Given the description of an element on the screen output the (x, y) to click on. 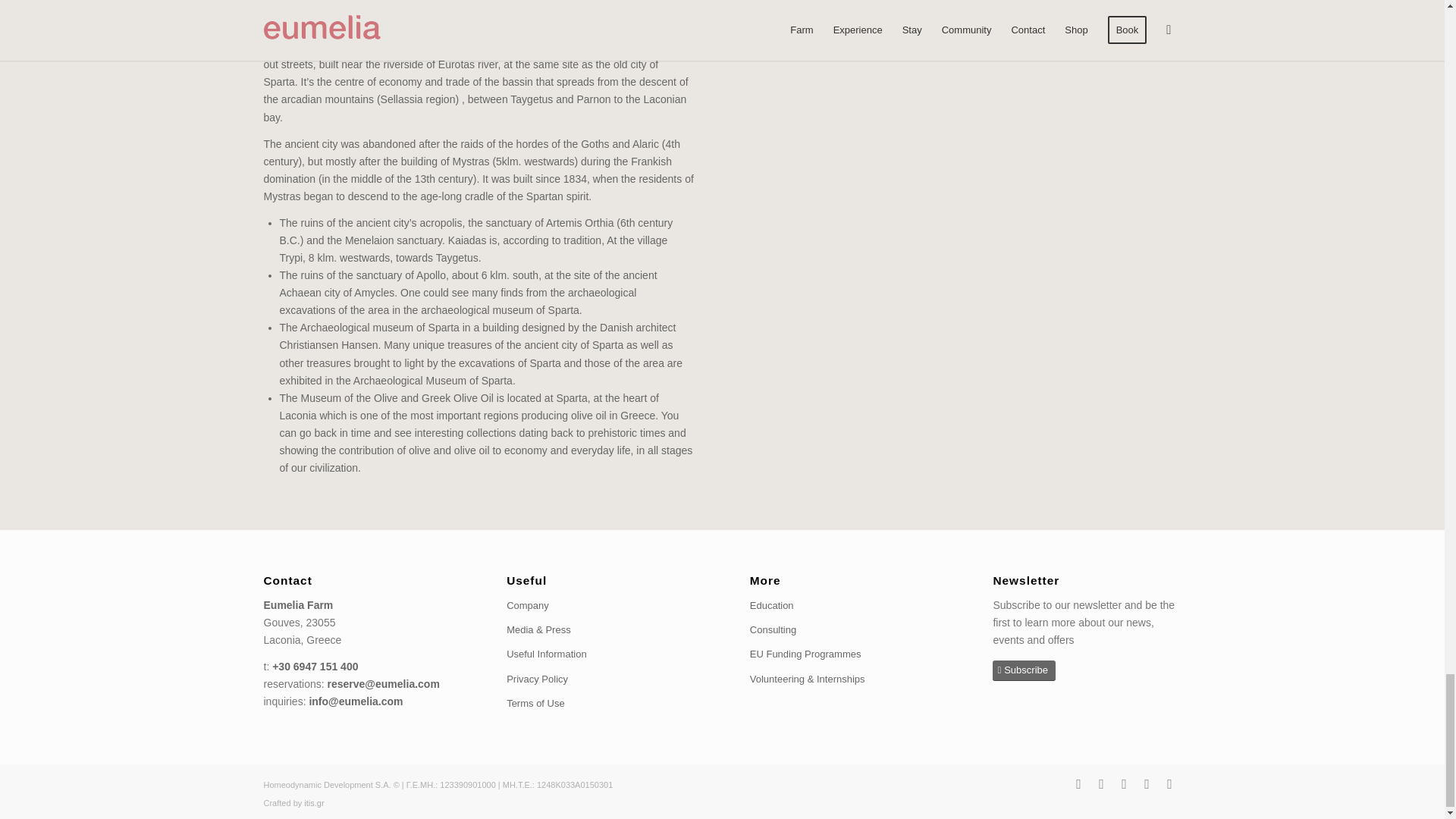
Useful Information (600, 654)
Consulting (843, 630)
Privacy Policy (600, 679)
Company (600, 605)
EU Funding Programmes (843, 654)
Terms of Use (600, 703)
Education (843, 605)
